Given the description of an element on the screen output the (x, y) to click on. 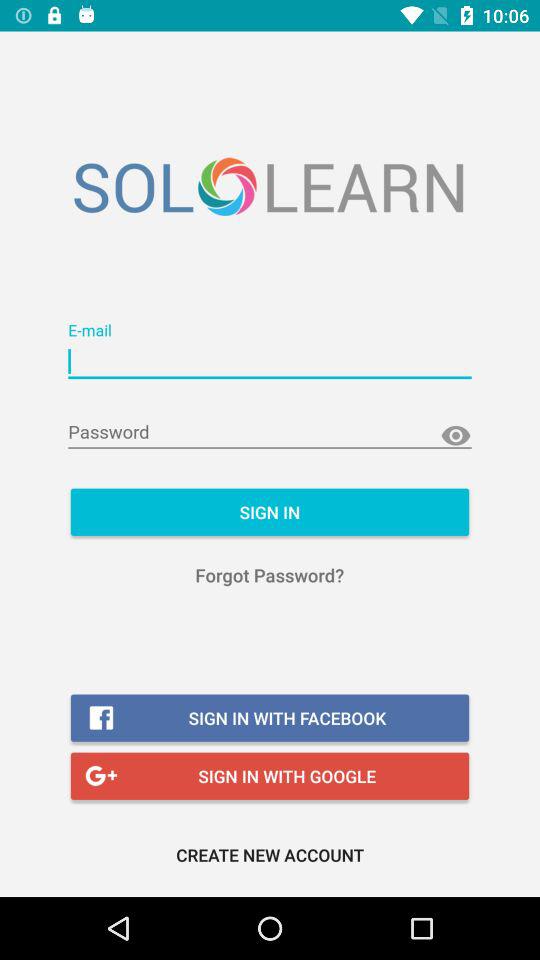
choose forgot password? icon (269, 574)
